Given the description of an element on the screen output the (x, y) to click on. 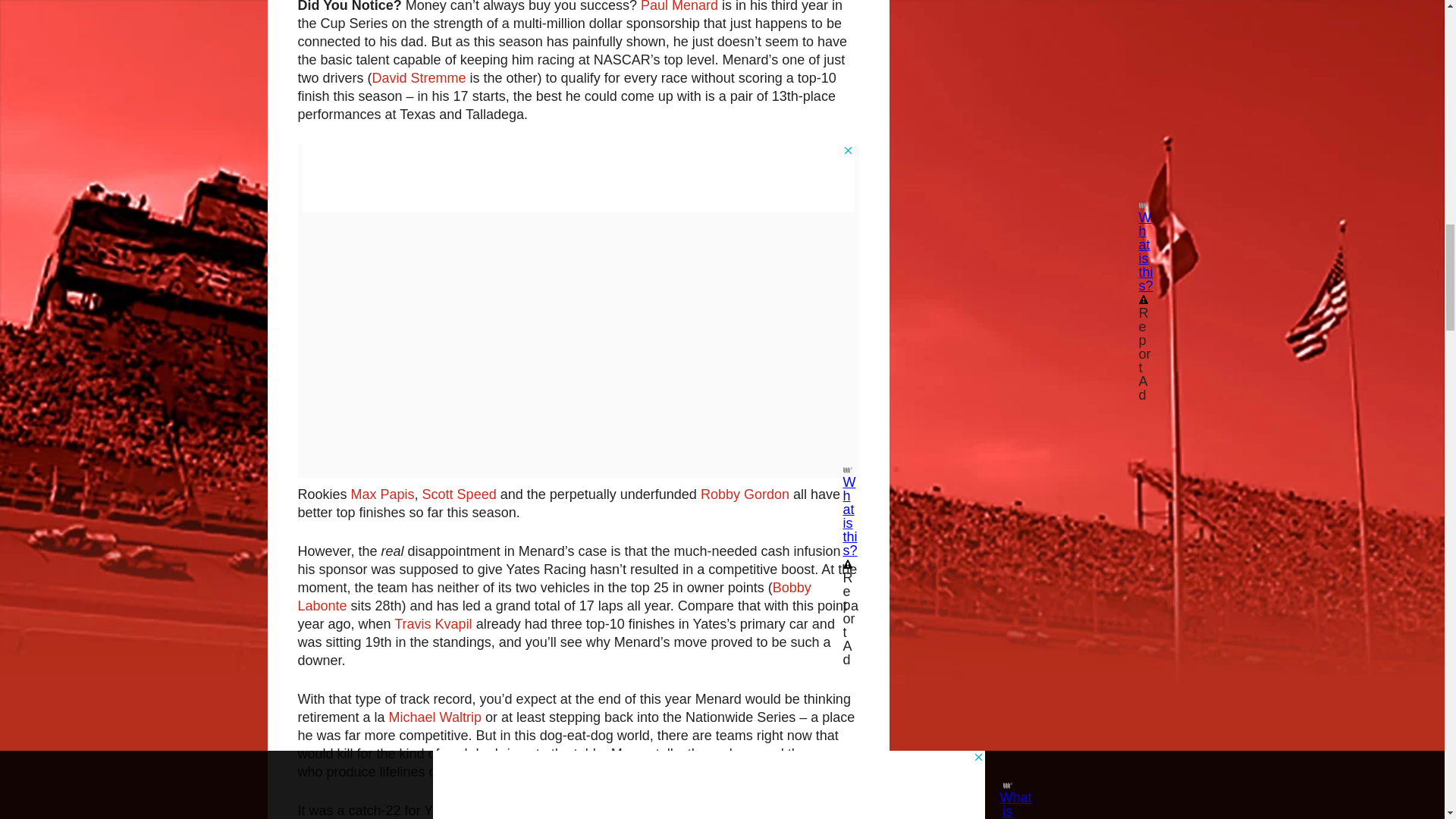
3rd party ad content (577, 178)
Paul Menard (678, 6)
David Stremme (418, 77)
Travis Kvapil (432, 623)
Robby Gordon (744, 494)
Max Papis (382, 494)
Scott Speed (459, 494)
Bobby Labonte (553, 596)
Michael Waltrip (434, 717)
